Given the description of an element on the screen output the (x, y) to click on. 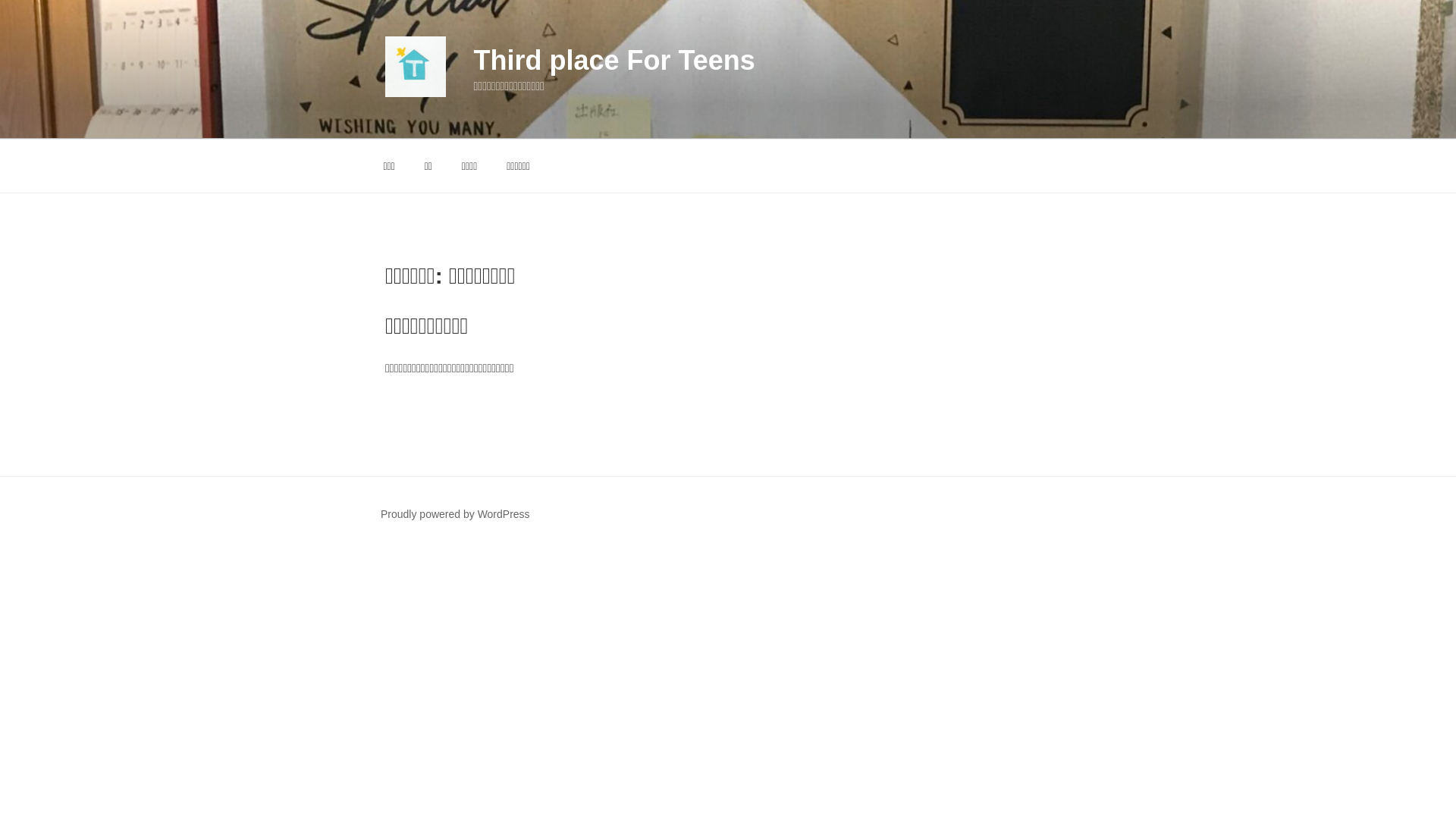
Proudly powered by WordPress Element type: text (455, 514)
Third place For Teens Element type: text (613, 59)
